Given the description of an element on the screen output the (x, y) to click on. 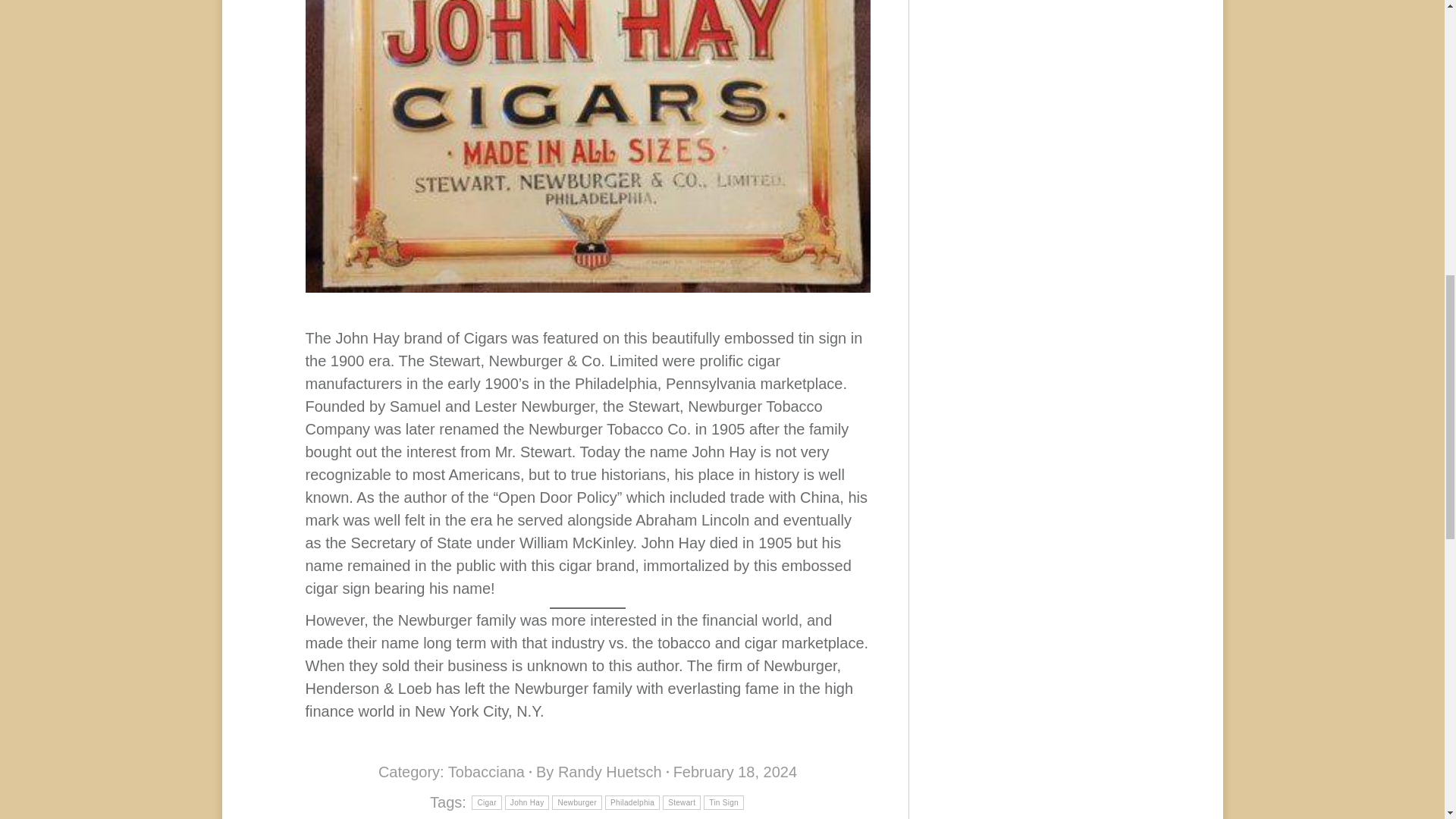
View all posts by Randy Huetsch (601, 771)
6:46 pm (734, 771)
